Given the description of an element on the screen output the (x, y) to click on. 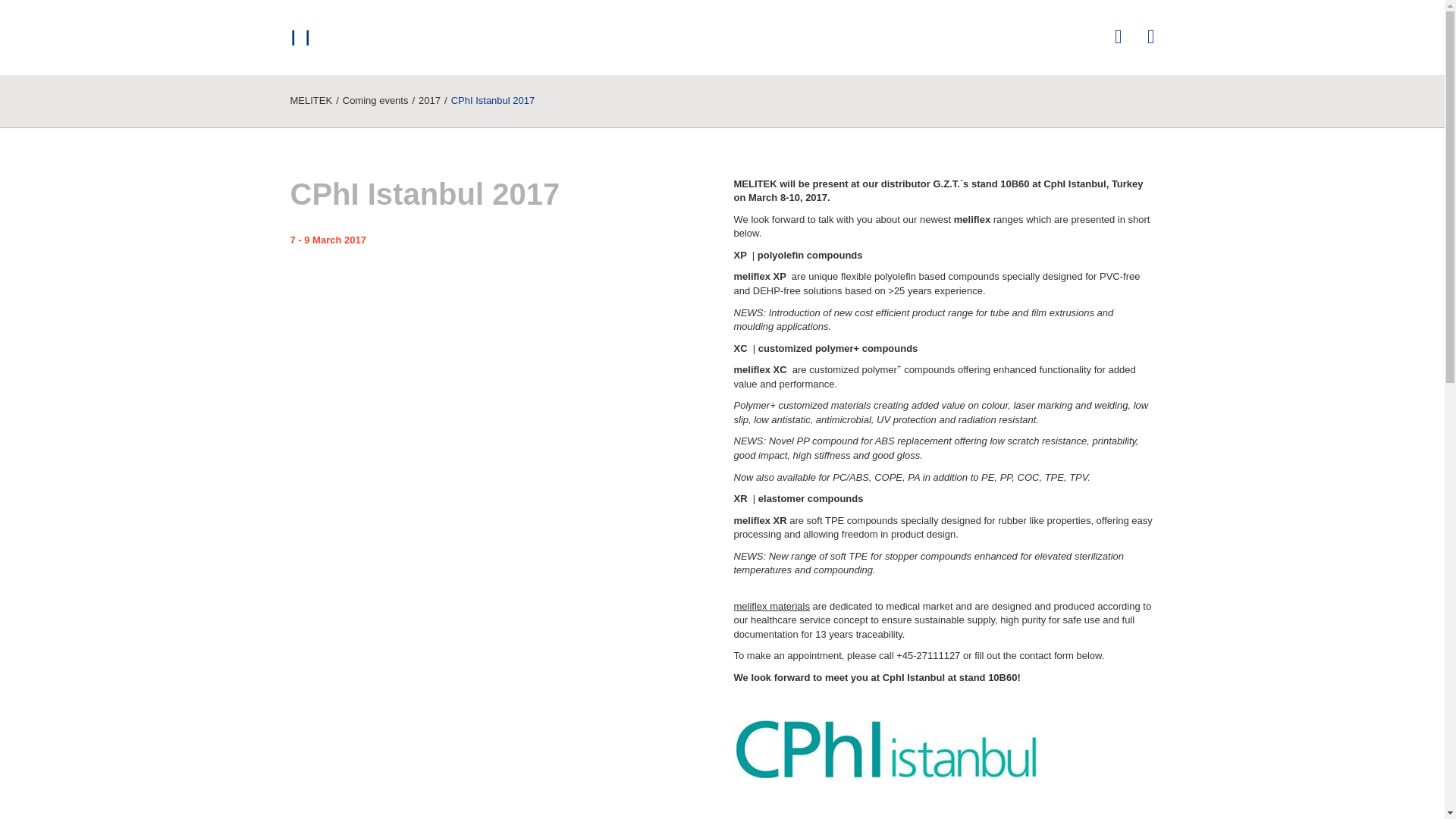
Specialist in medical technologies (310, 100)
Coming events (375, 100)
MELITEK (310, 100)
meliflex materials (771, 605)
2017 (430, 100)
